Given the description of an element on the screen output the (x, y) to click on. 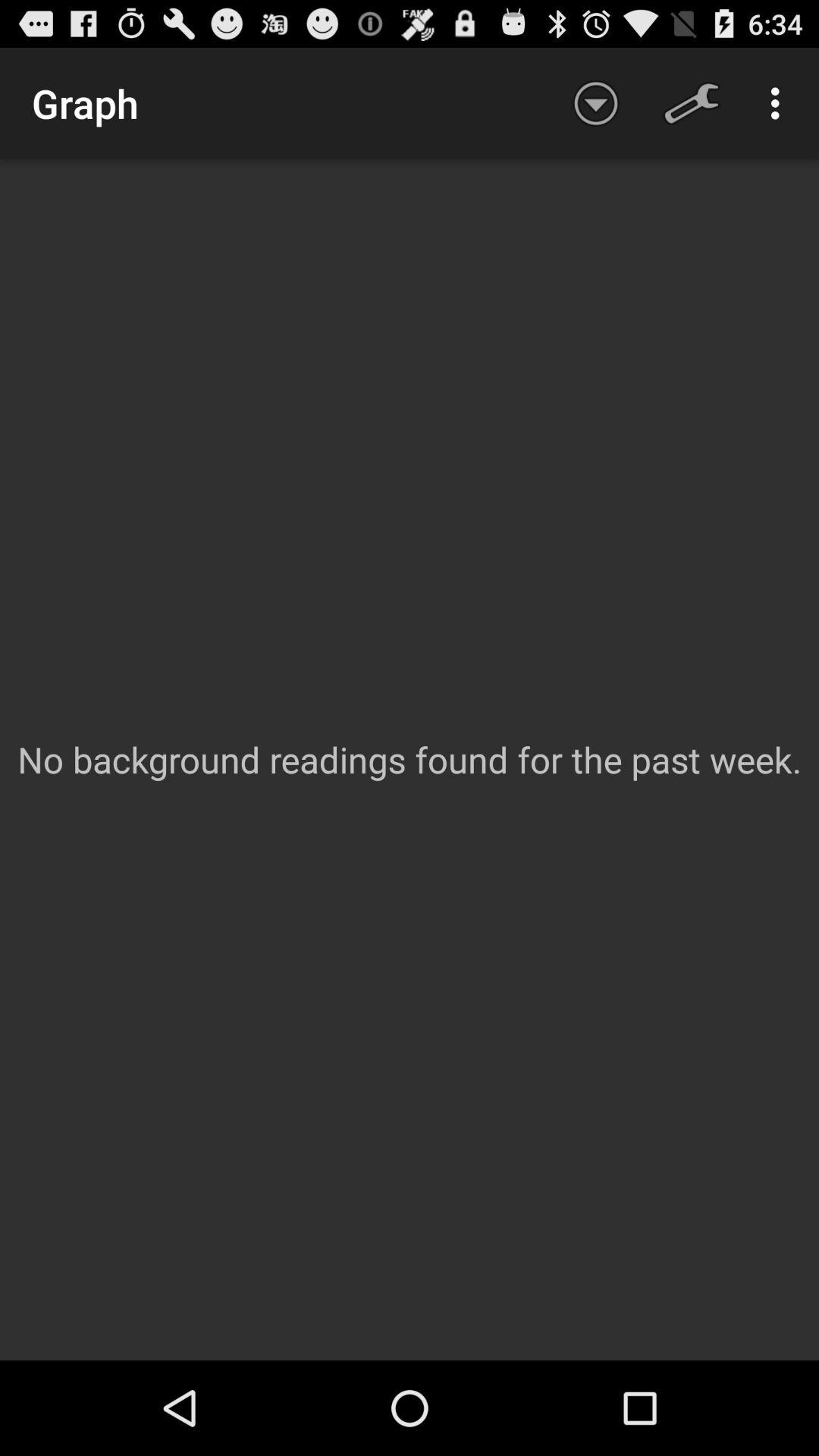
turn off the icon above no background readings (691, 103)
